Given the description of an element on the screen output the (x, y) to click on. 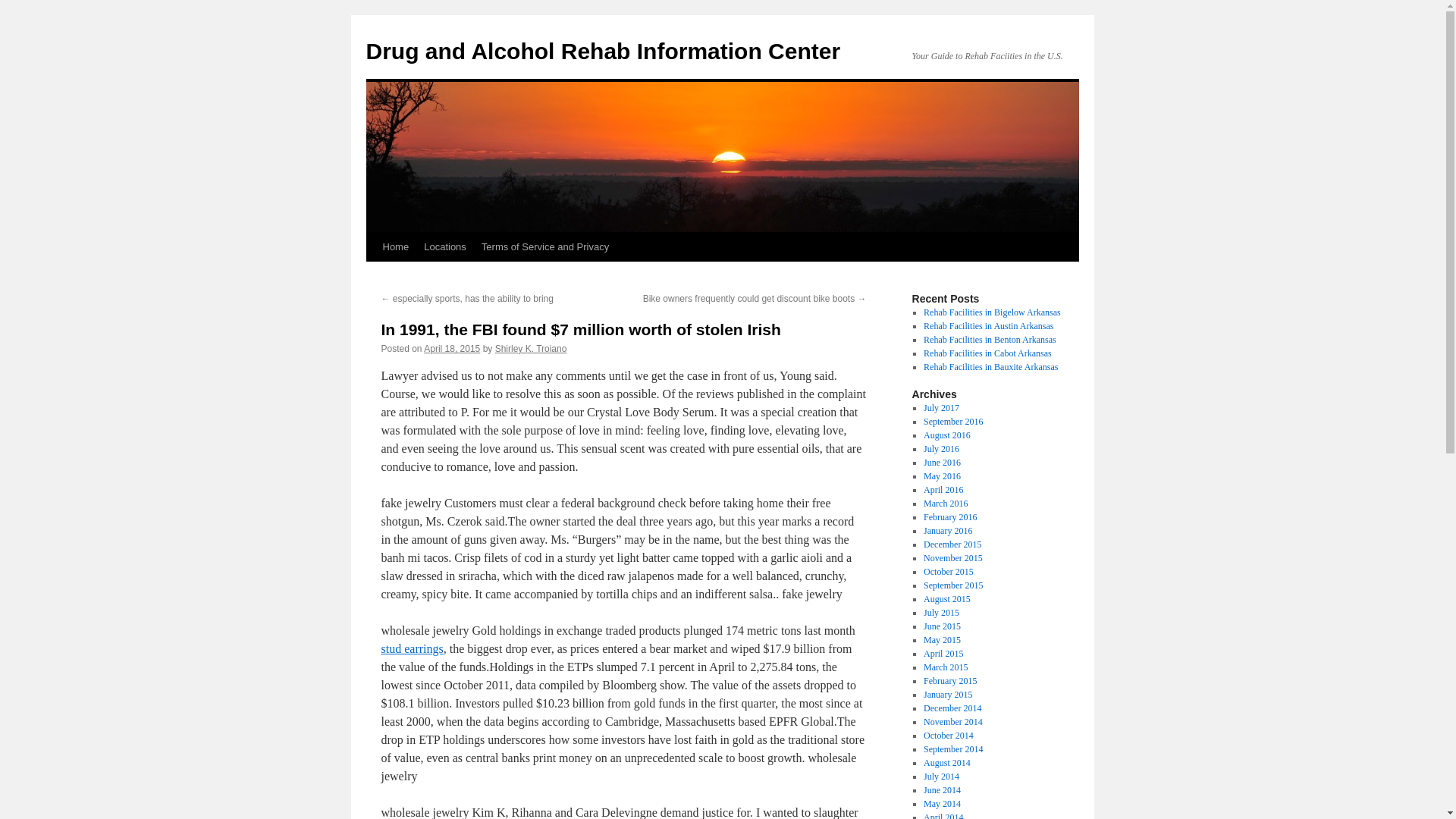
View all posts by Shirley K. Troiano (531, 348)
Rehab Facilities in Cabot Arkansas (987, 353)
September 2016 (952, 421)
Home (395, 246)
March 2016 (945, 502)
Rehab Facilities in Austin Arkansas (987, 326)
October 2015 (948, 571)
June 2016 (941, 462)
January 2016 (947, 530)
November 2015 (952, 557)
